Given the description of an element on the screen output the (x, y) to click on. 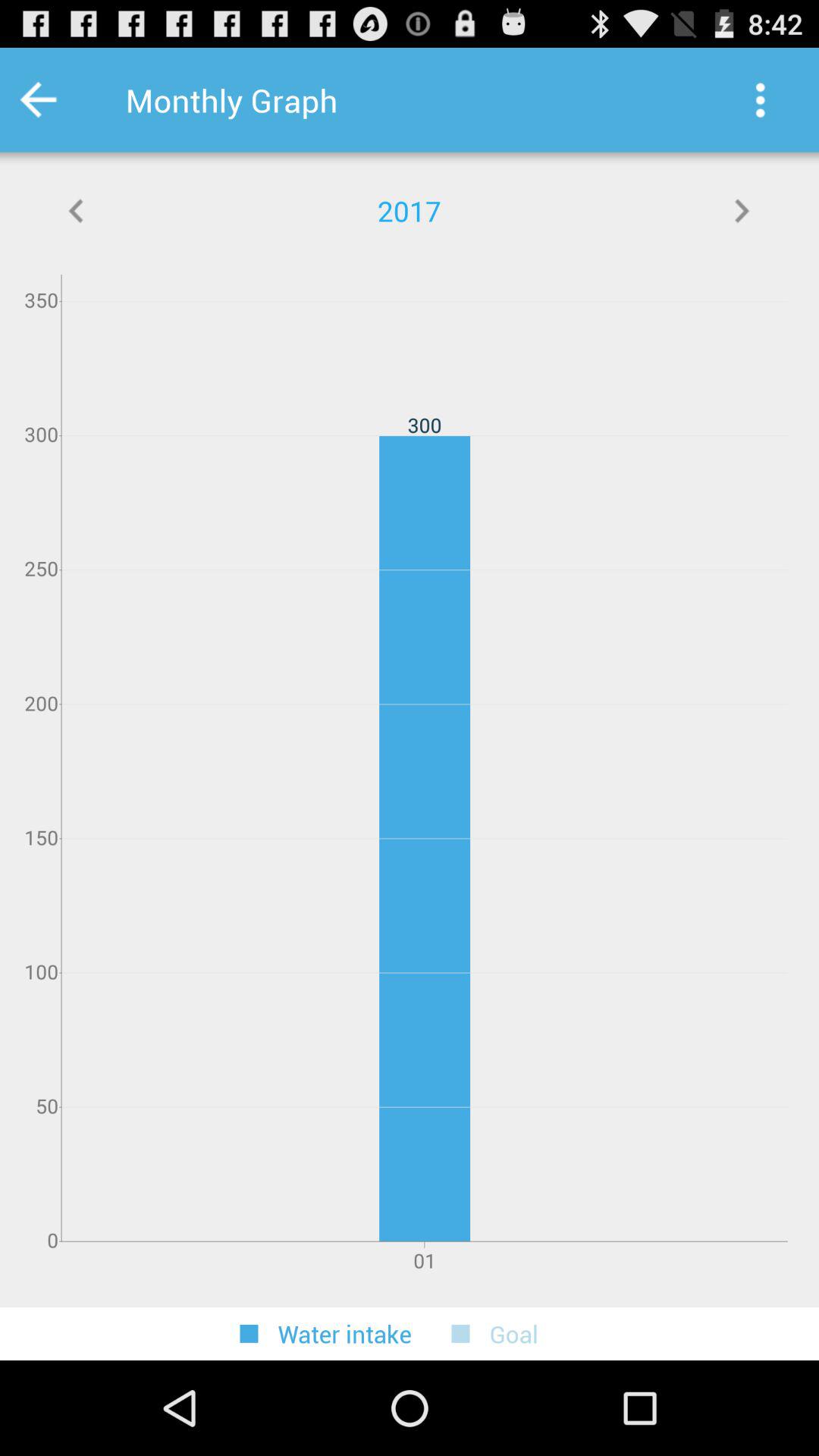
open icon to the left of monthly graph icon (58, 100)
